Given the description of an element on the screen output the (x, y) to click on. 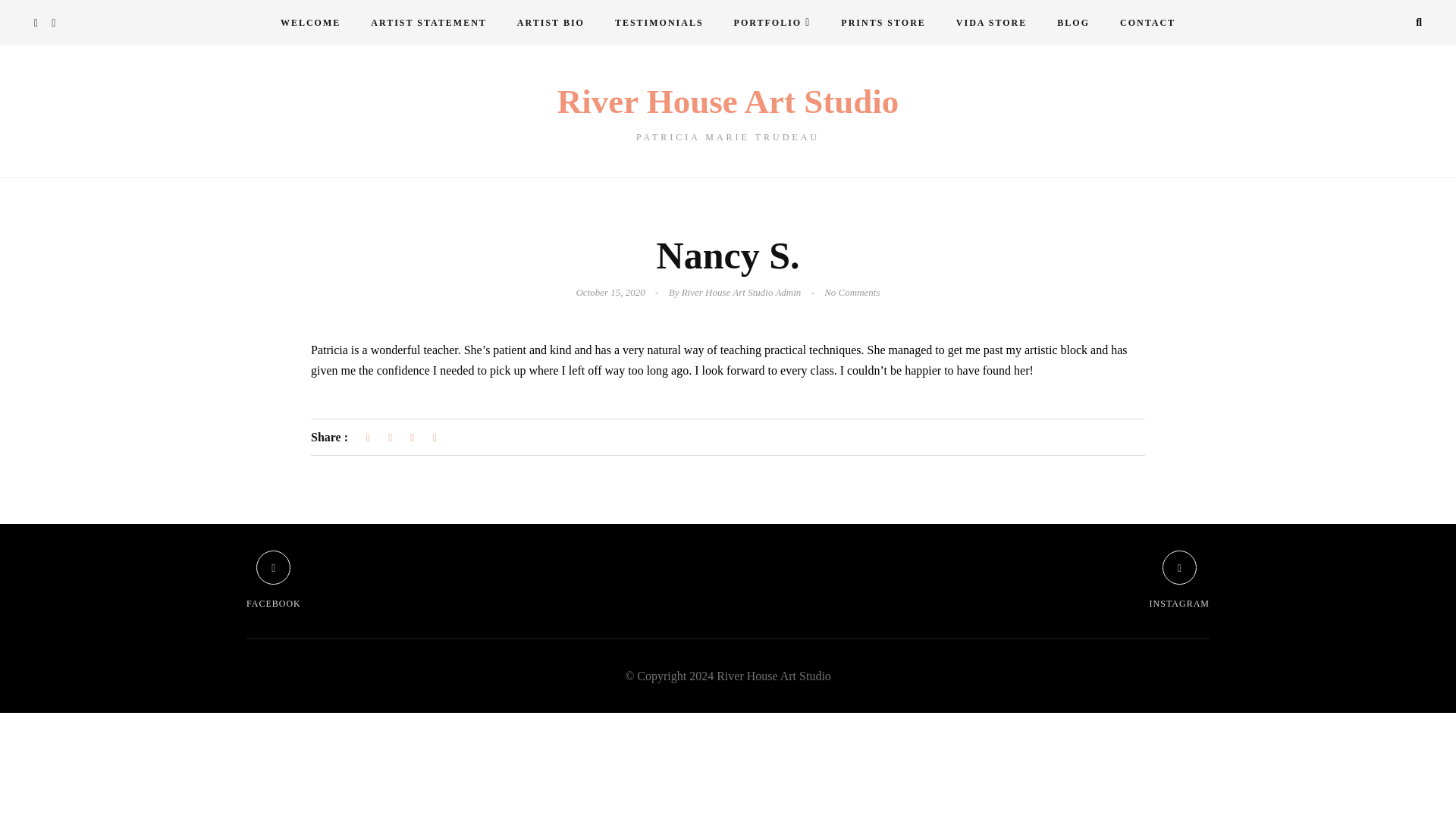
PORTFOLIO (772, 22)
BLOG (1073, 22)
Click to share this post on Twitter (389, 438)
FACEBOOK (727, 112)
ARTIST STATEMENT (273, 580)
VIDA STORE (428, 22)
WELCOME (991, 22)
ARTIST BIO (309, 22)
CONTACT (550, 22)
PRINTS STORE (1147, 22)
INSTAGRAM (883, 22)
TESTIMONIALS (1179, 580)
